Given the description of an element on the screen output the (x, y) to click on. 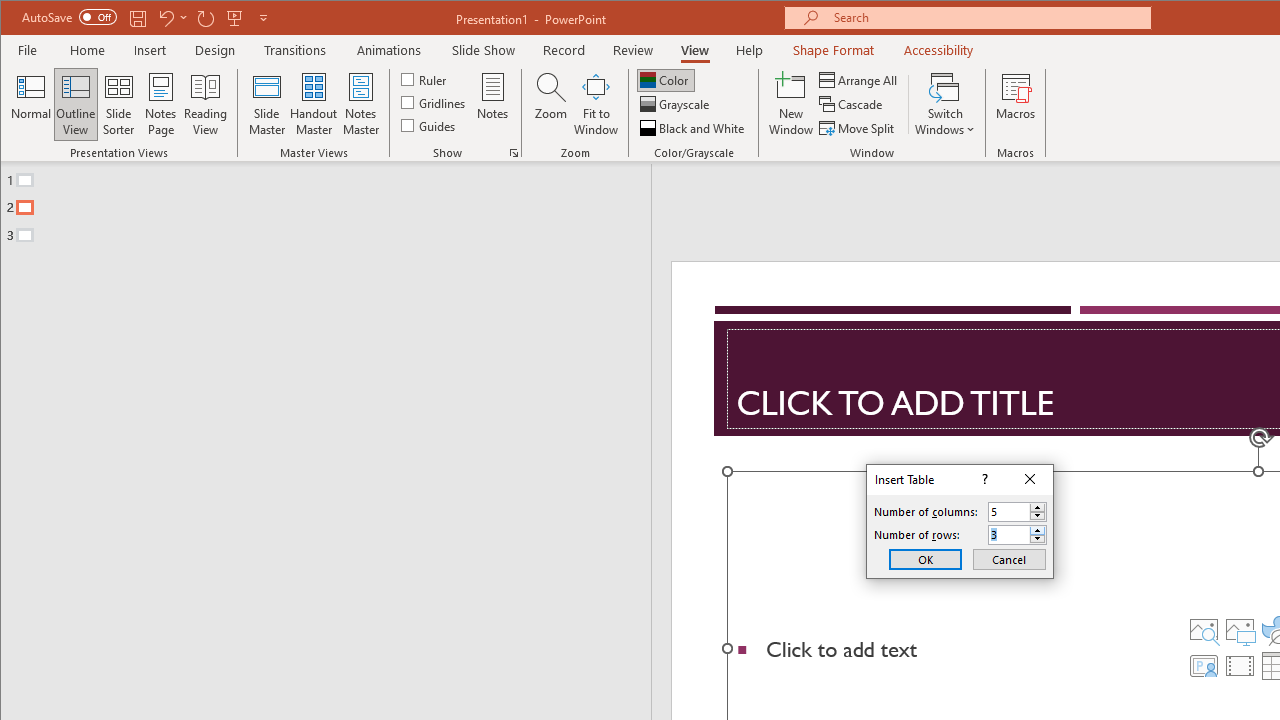
Context help (983, 480)
Notes Master (360, 104)
